Given the description of an element on the screen output the (x, y) to click on. 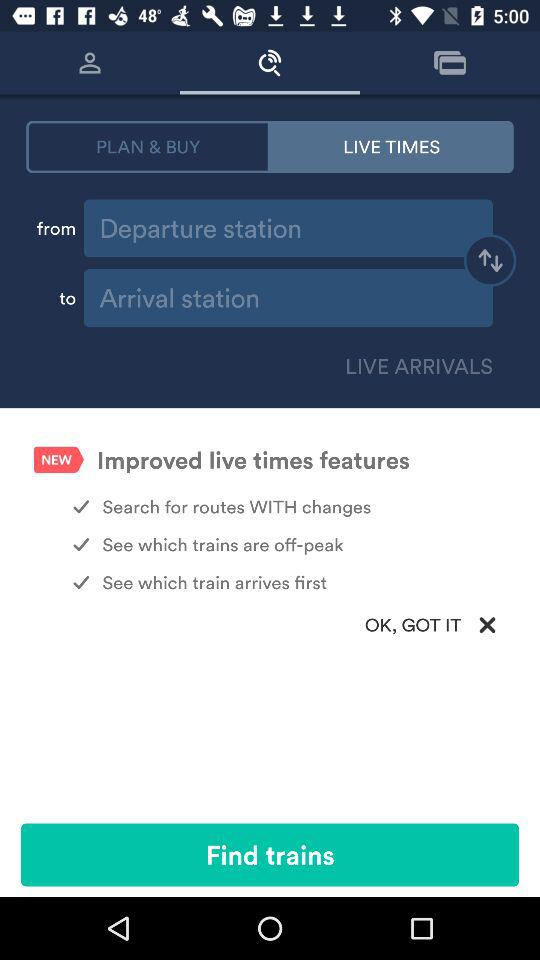
flip to ok, got it item (269, 624)
